Given the description of an element on the screen output the (x, y) to click on. 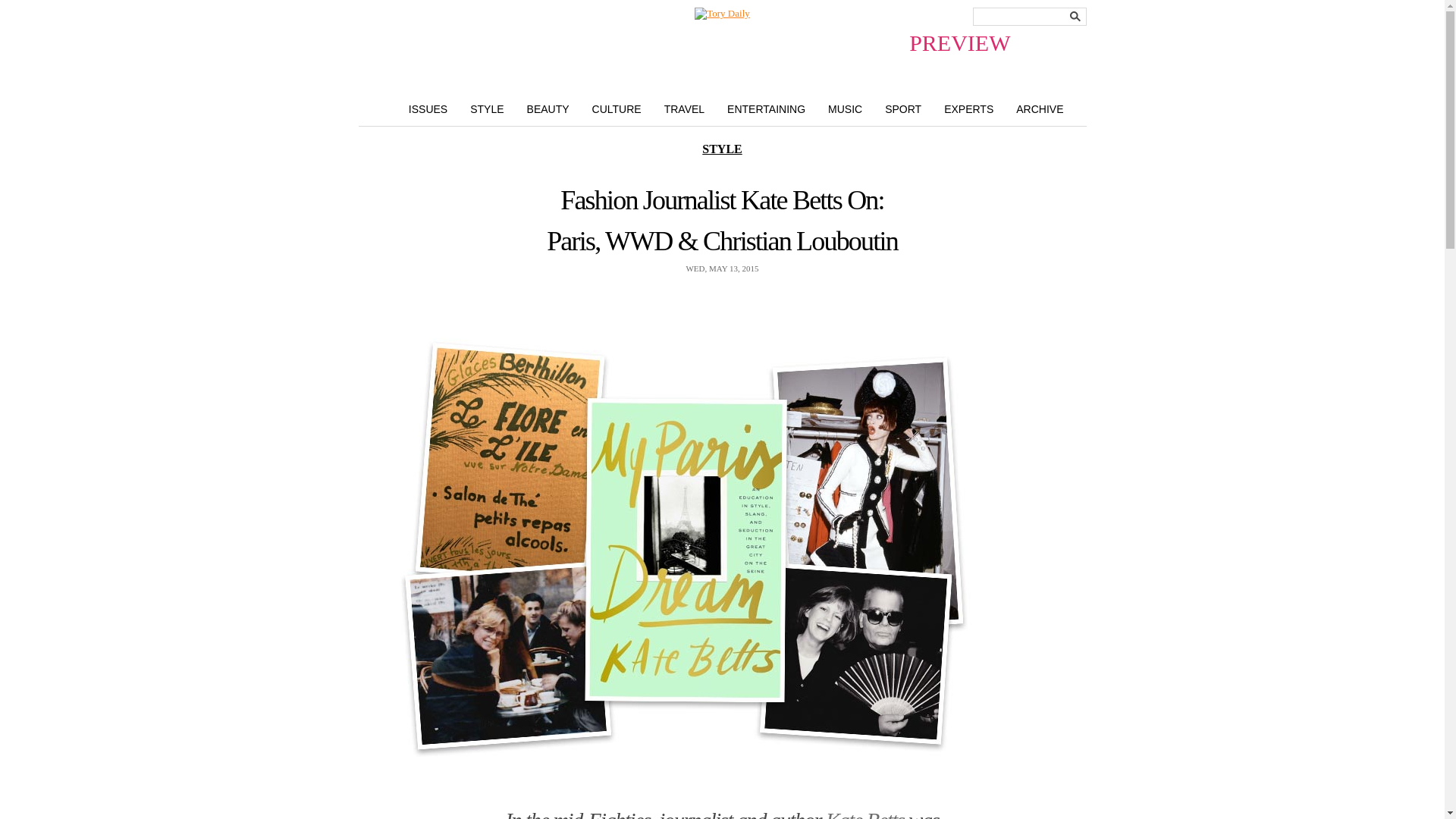
Beauty (547, 108)
BEAUTY (547, 108)
ISSUES (427, 108)
View all posts in Style (721, 148)
Culture (616, 108)
Music (844, 108)
ENTERTAINING (766, 108)
Travel (684, 108)
Experts (968, 108)
Sport (903, 108)
PREVIEW (722, 13)
TRAVEL (684, 108)
EXPERTS (968, 108)
SPORT (903, 108)
Kate Betts (864, 813)
